Given the description of an element on the screen output the (x, y) to click on. 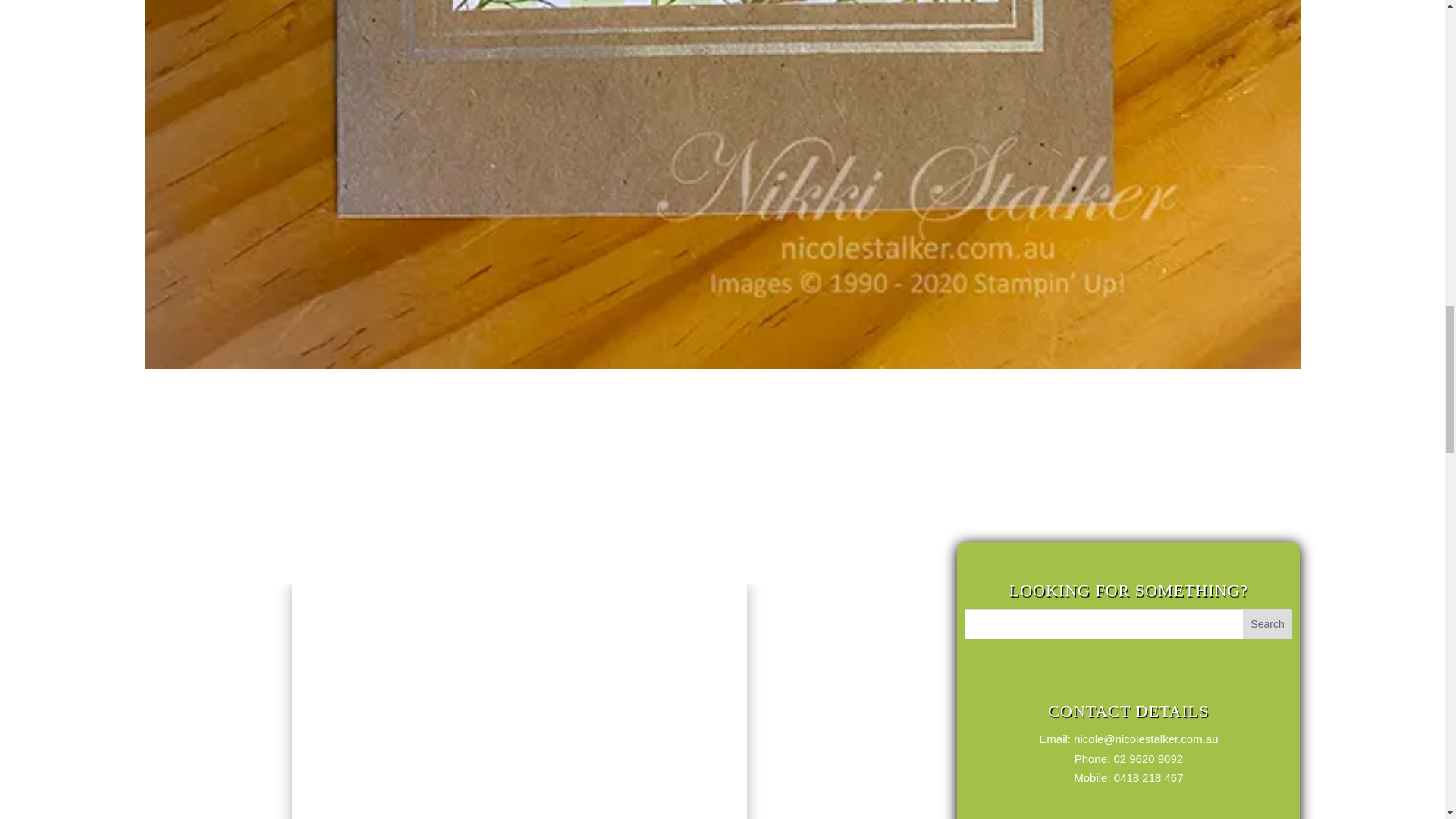
Search (1267, 624)
